Given the description of an element on the screen output the (x, y) to click on. 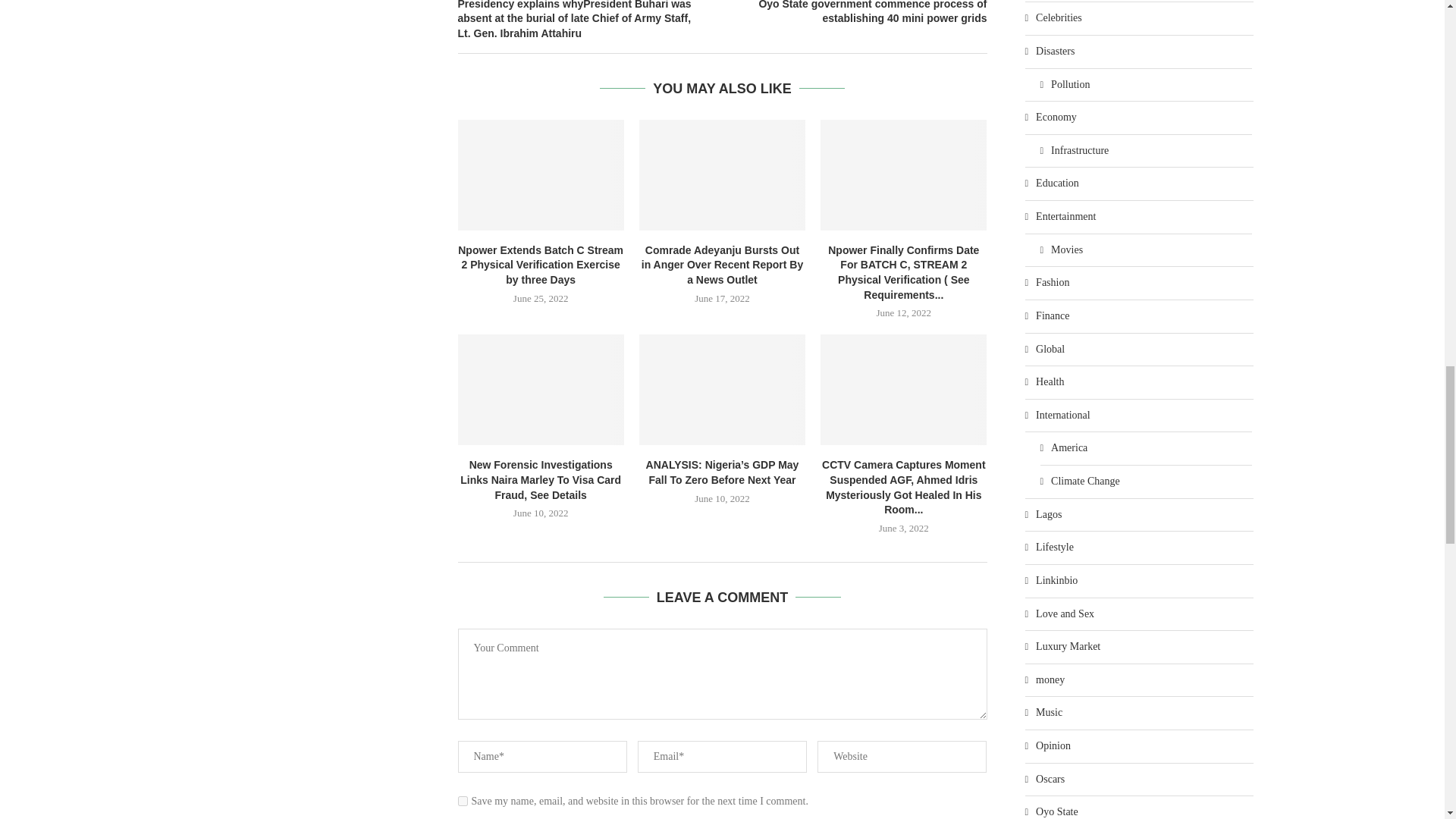
yes (462, 800)
